Given the description of an element on the screen output the (x, y) to click on. 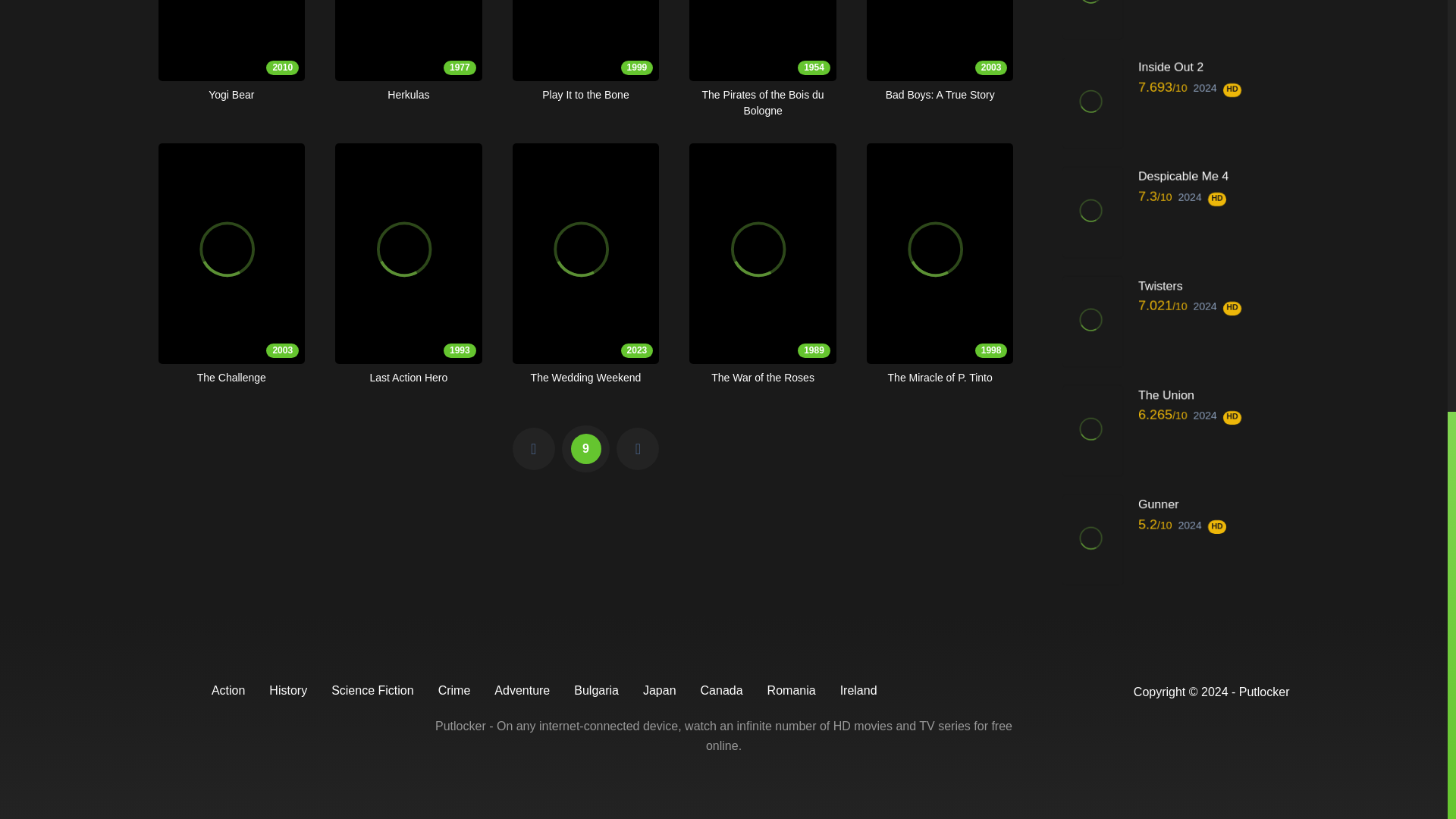
9 (230, 51)
